Given the description of an element on the screen output the (x, y) to click on. 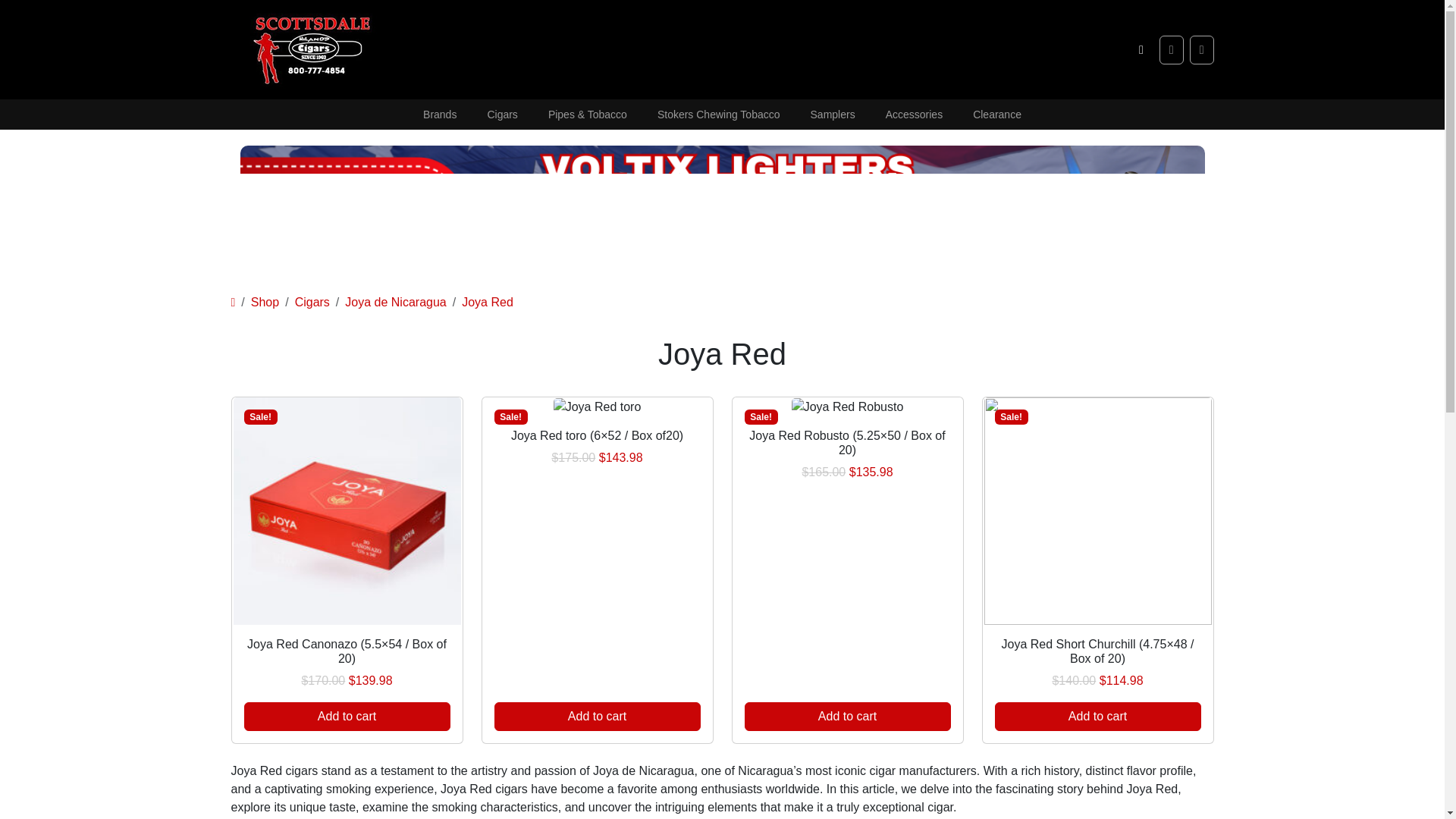
Stokers Chewing Tobacco (718, 114)
Cigars (501, 114)
Add to cart (597, 716)
Joya Red (487, 301)
Sale! (847, 406)
Sale! (347, 510)
Brands (439, 114)
Sale! (597, 406)
Samplers (832, 114)
Cigars (312, 301)
